Given the description of an element on the screen output the (x, y) to click on. 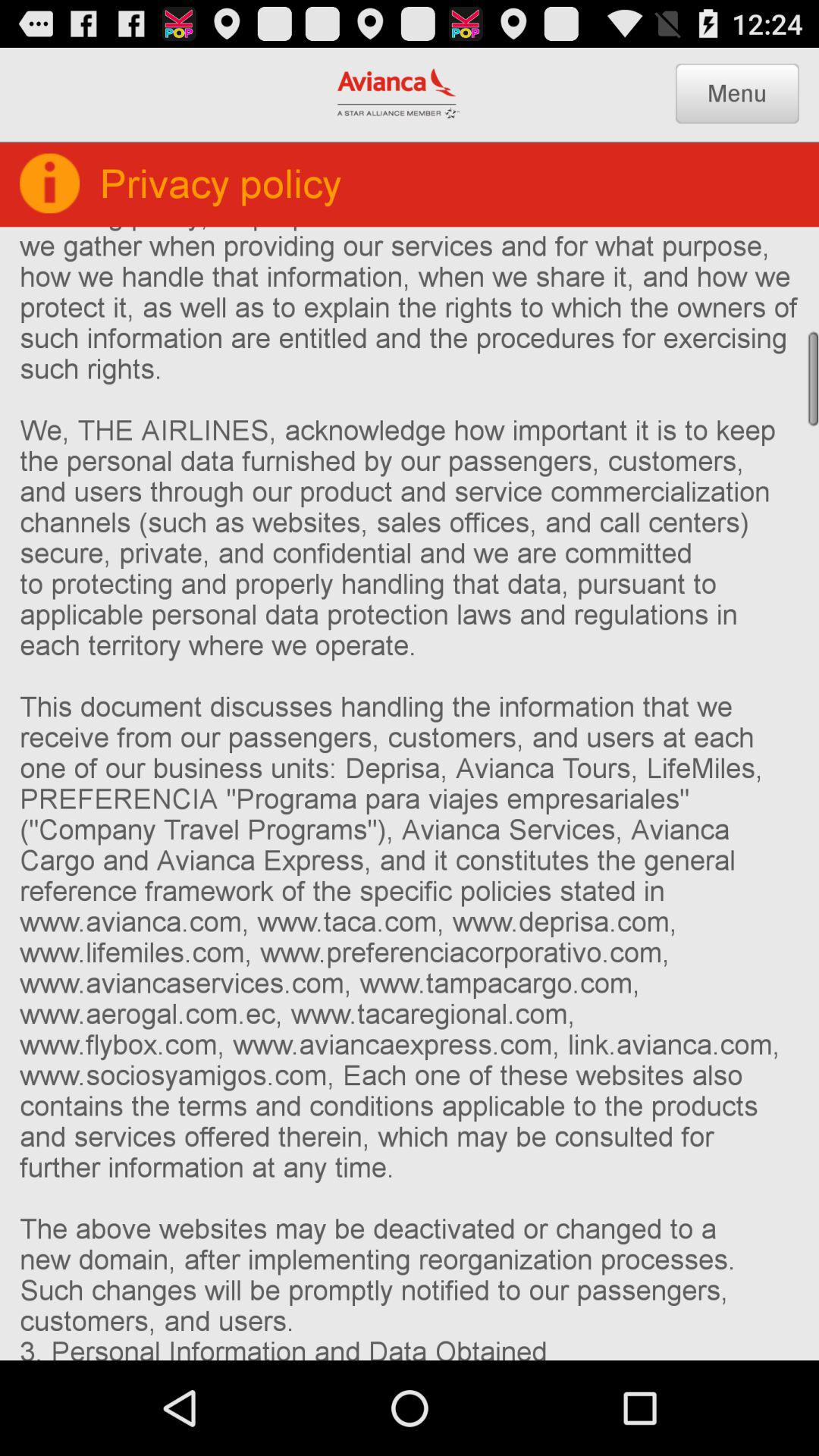
press the 1 who we (409, 793)
